Given the description of an element on the screen output the (x, y) to click on. 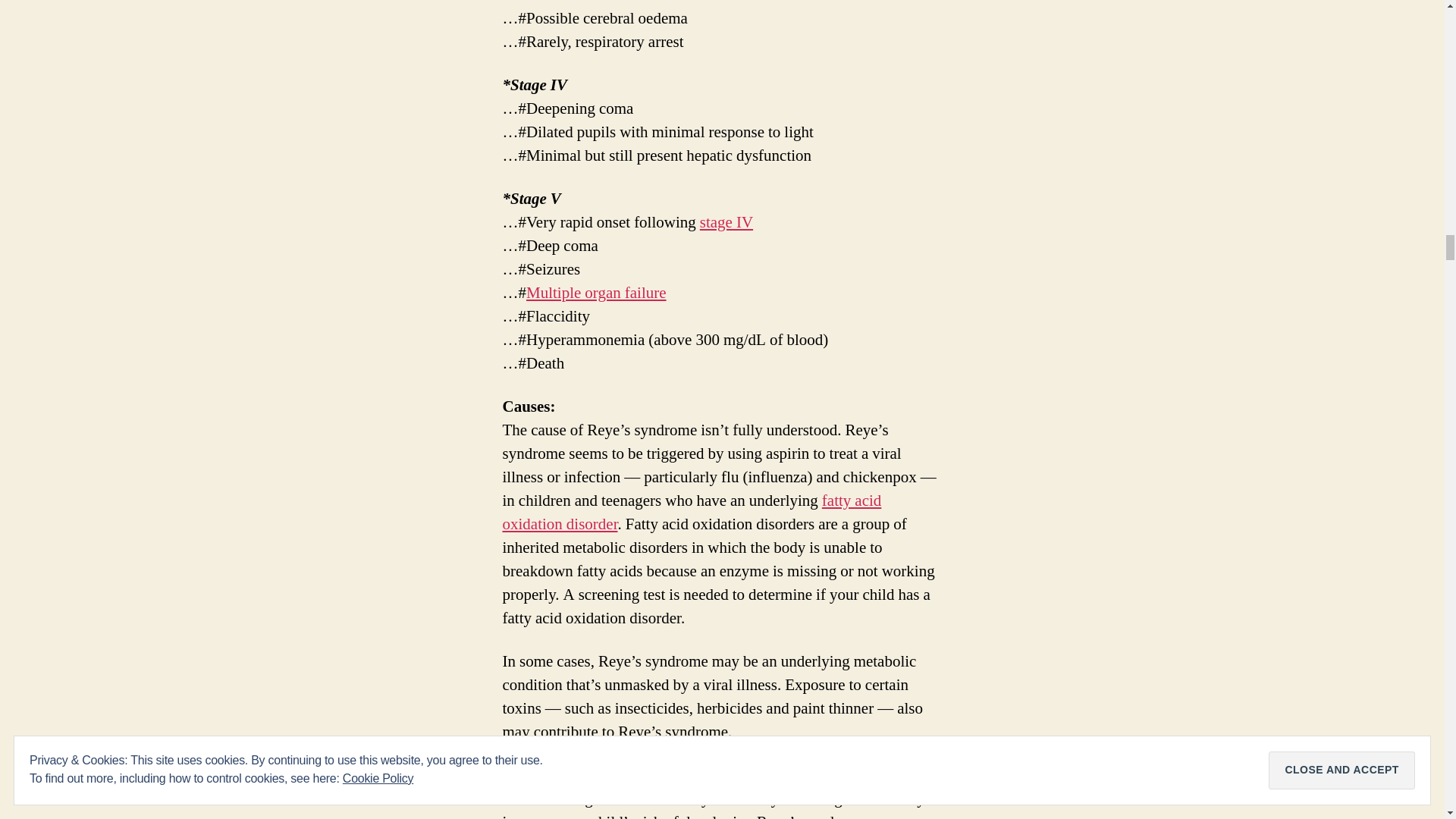
Cancer staging (726, 222)
Multiple organ dysfunction syndrome (595, 292)
Fatty-acid metabolism disorder (691, 512)
